Given the description of an element on the screen output the (x, y) to click on. 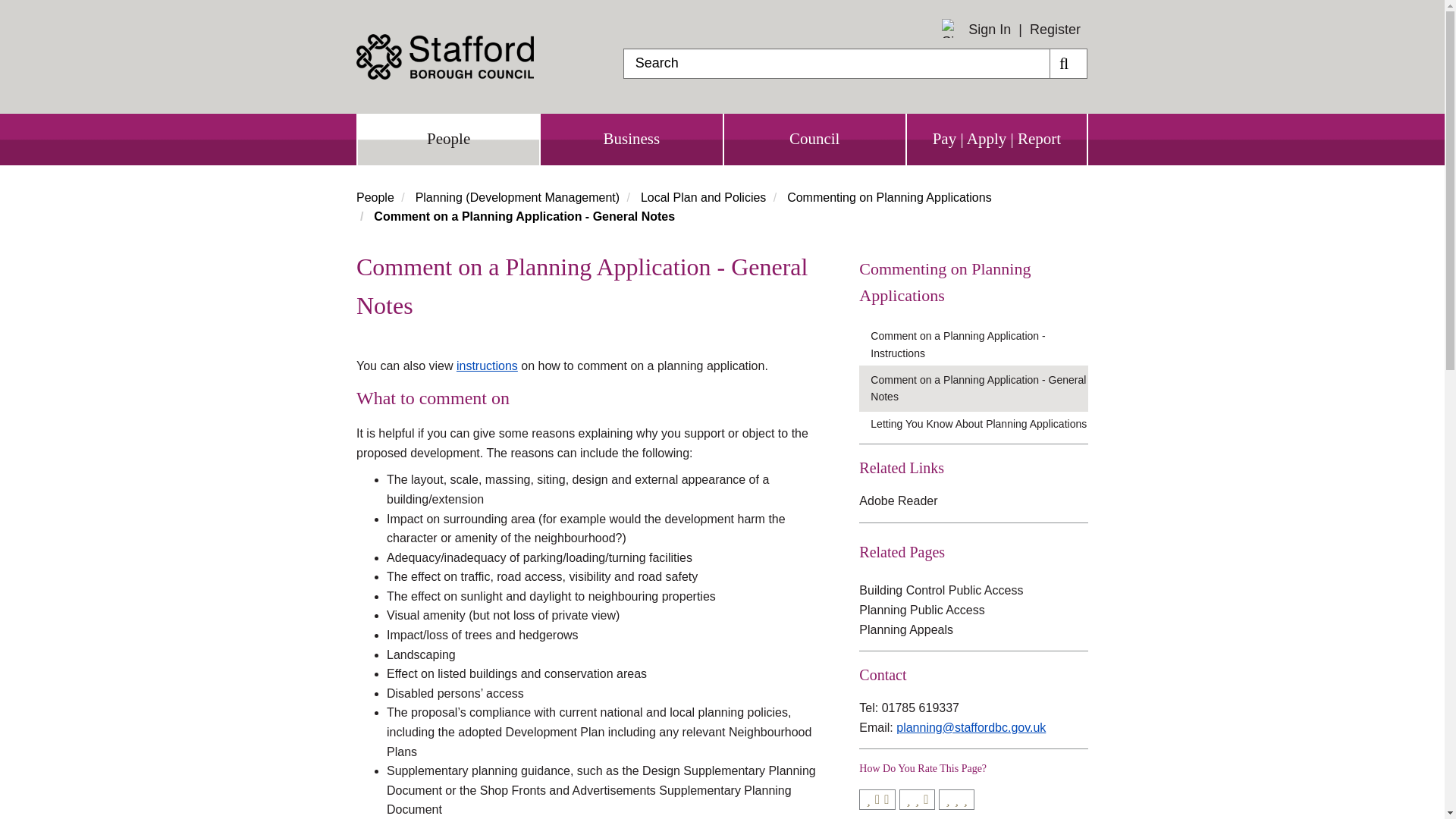
Business (631, 139)
People (448, 139)
Local Plan and Policies (702, 196)
Comment on a Planning Application - General Notes (978, 388)
Adobe Reader (898, 500)
Enter the terms you wish to search for. (836, 63)
instructions (487, 365)
Comment on a Planning Application - Instructions (978, 344)
Letting You Know About Planning Applications (978, 423)
Commenting on Planning Applications (973, 282)
Commenting on Planning Applications (889, 196)
Instructions on how to comment on a Planning Application (487, 365)
Council (813, 139)
People (375, 196)
